Given the description of an element on the screen output the (x, y) to click on. 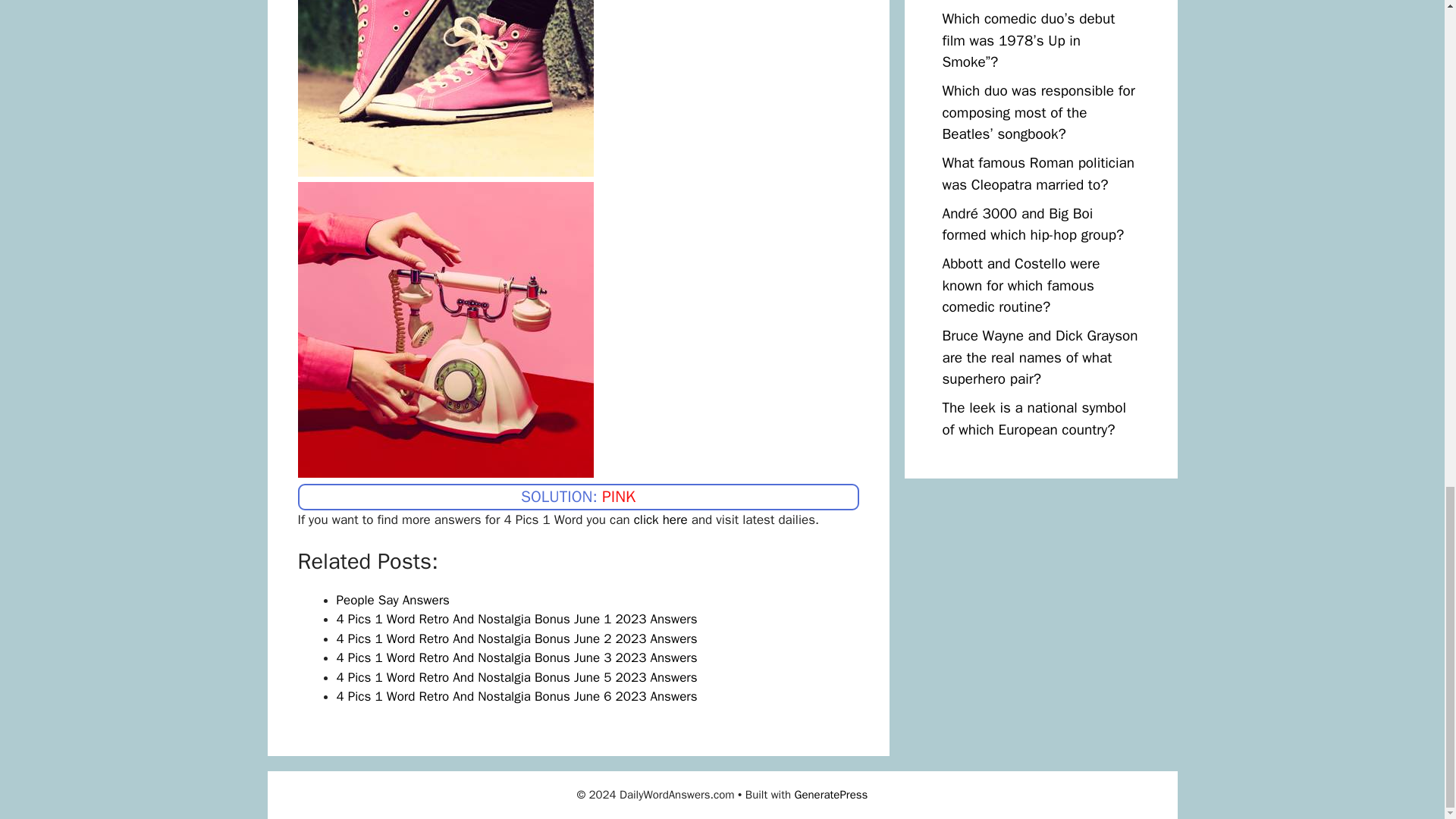
4 Pics 1 Word Retro And Nostalgia Bonus June 6 2023 Answers (516, 696)
4 Pics 1 Word Retro And Nostalgia Bonus June 3 2023 Answers (516, 657)
The leek is a national symbol of which European country? (1033, 418)
click here (660, 519)
What famous Roman politician was Cleopatra married to? (1038, 173)
People Say Answers (392, 600)
GeneratePress (830, 794)
4 Pics 1 Word Retro And Nostalgia Bonus June 2 2023 Answers (516, 638)
4 Pics 1 Word Retro And Nostalgia Bonus June 5 2023 Answers (516, 677)
4 Pics 1 Word Retro And Nostalgia Bonus June 1 2023 Answers (516, 618)
